Given the description of an element on the screen output the (x, y) to click on. 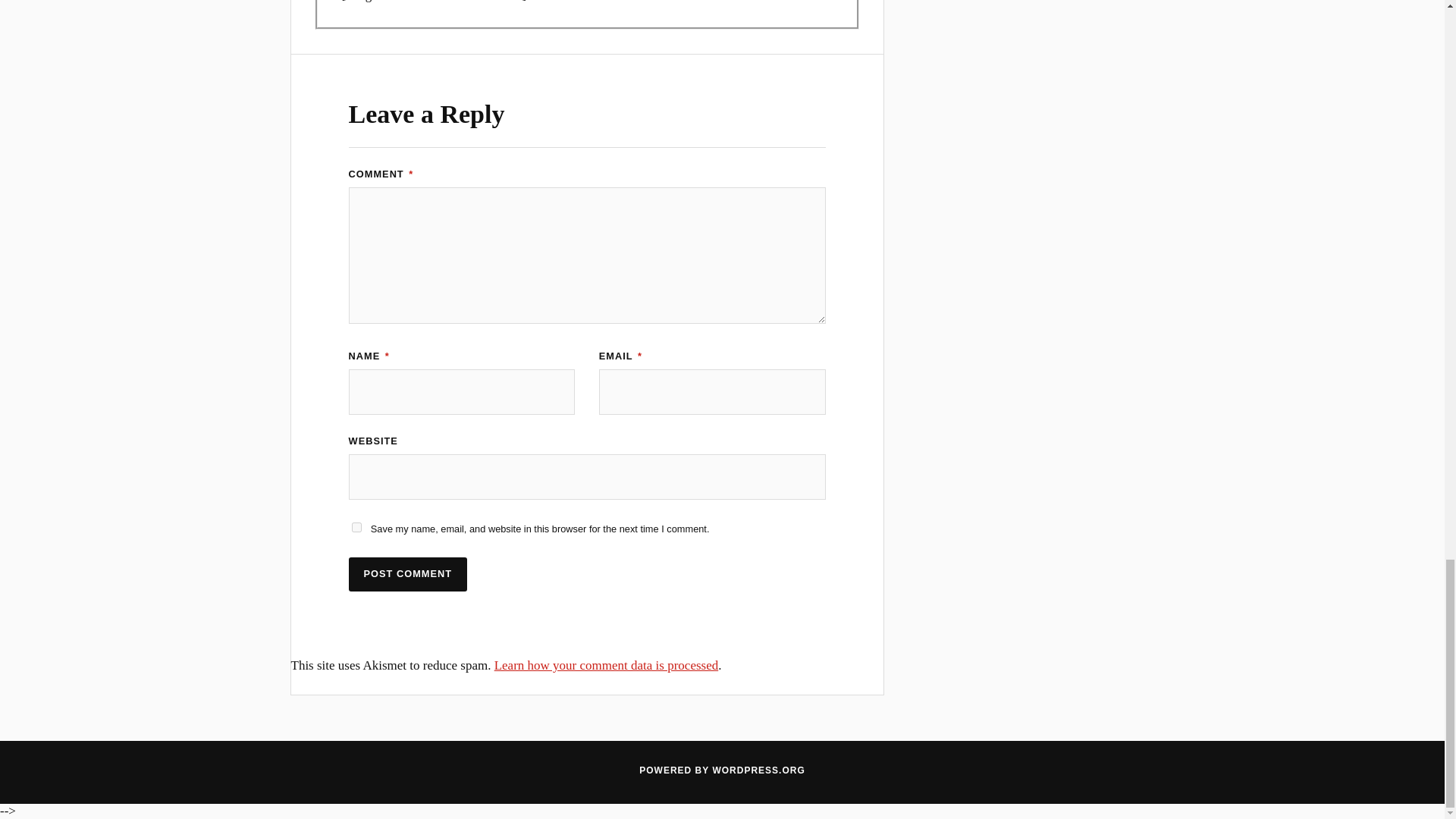
Post Comment (408, 574)
Learn how your comment data is processed (607, 665)
Post Comment (408, 574)
yes (356, 527)
